Given the description of an element on the screen output the (x, y) to click on. 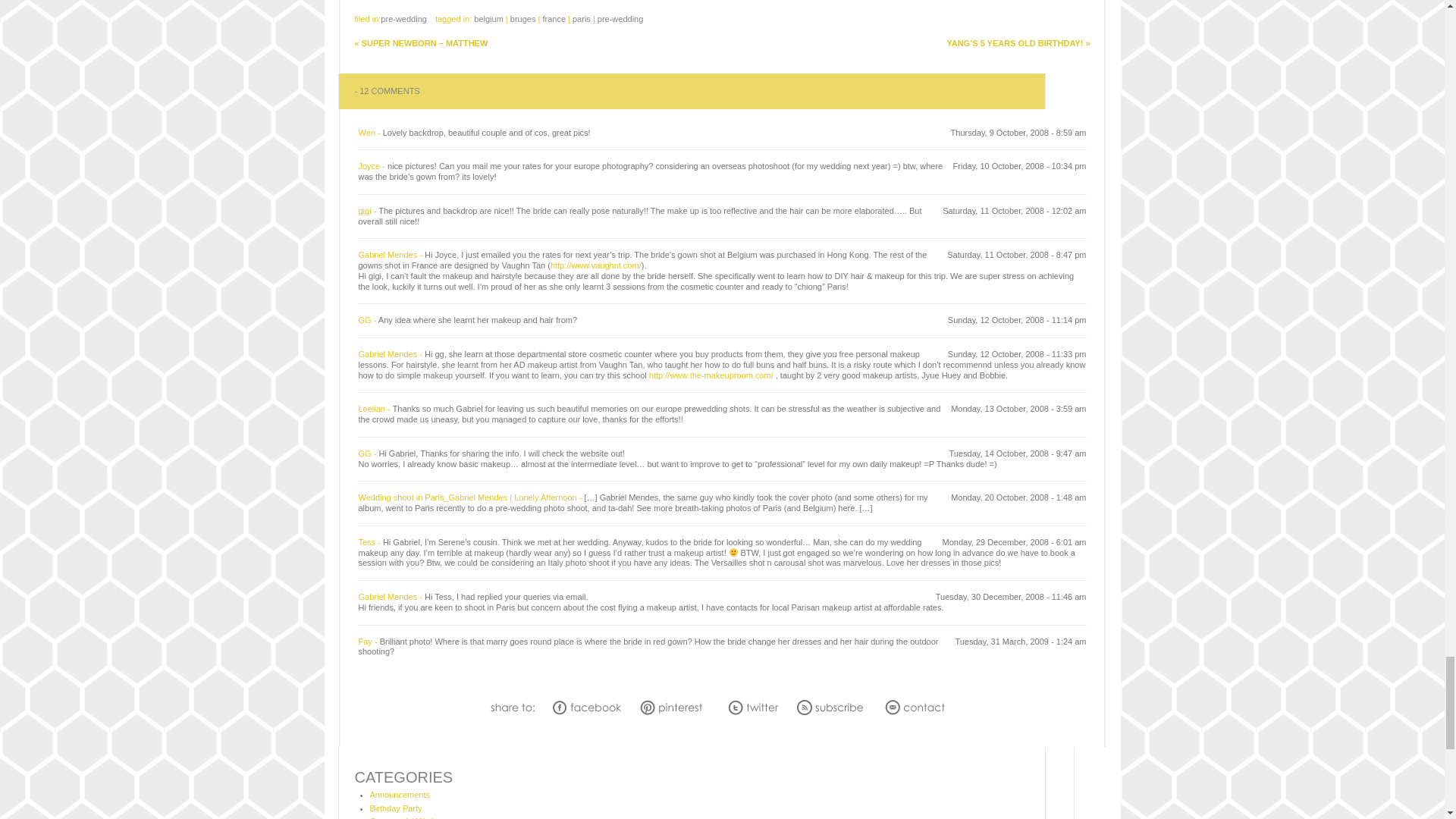
pre-wedding (403, 18)
